Given the description of an element on the screen output the (x, y) to click on. 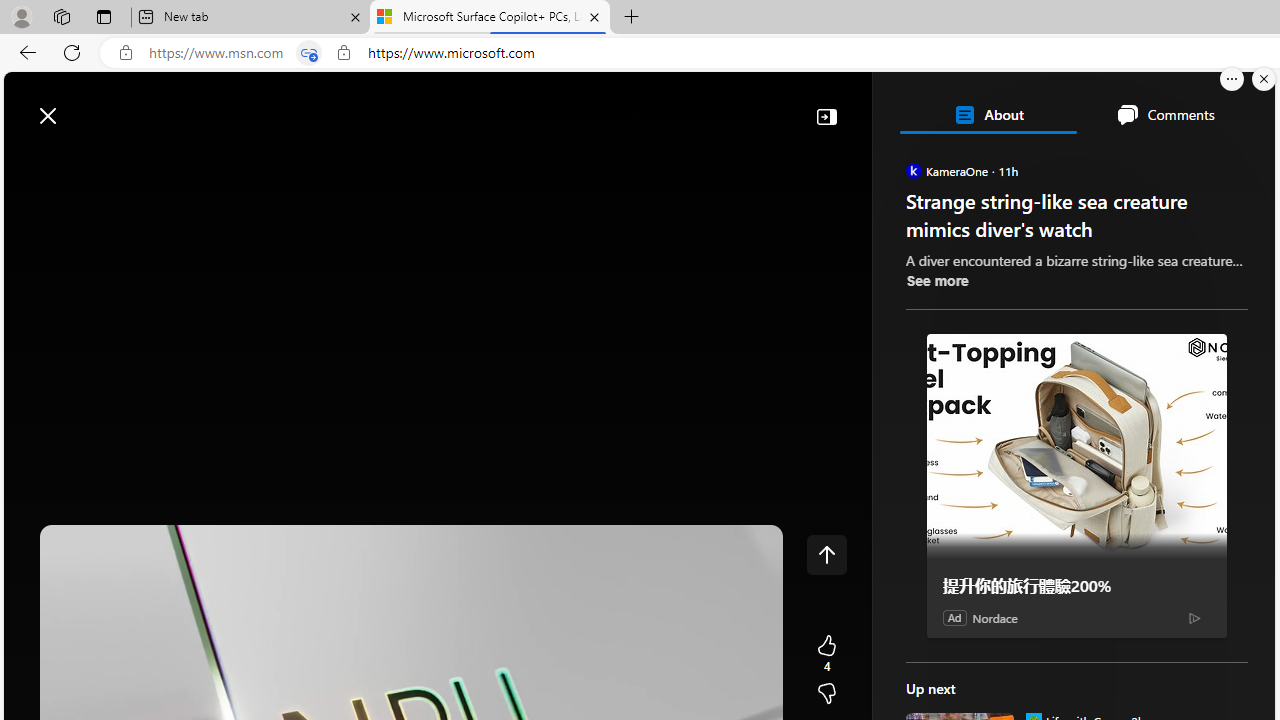
4 Like (826, 653)
Close split screen. (1264, 79)
Comments (1165, 114)
More options. (1232, 79)
ABC News (974, 557)
Tabs in split screen (308, 53)
